Given the description of an element on the screen output the (x, y) to click on. 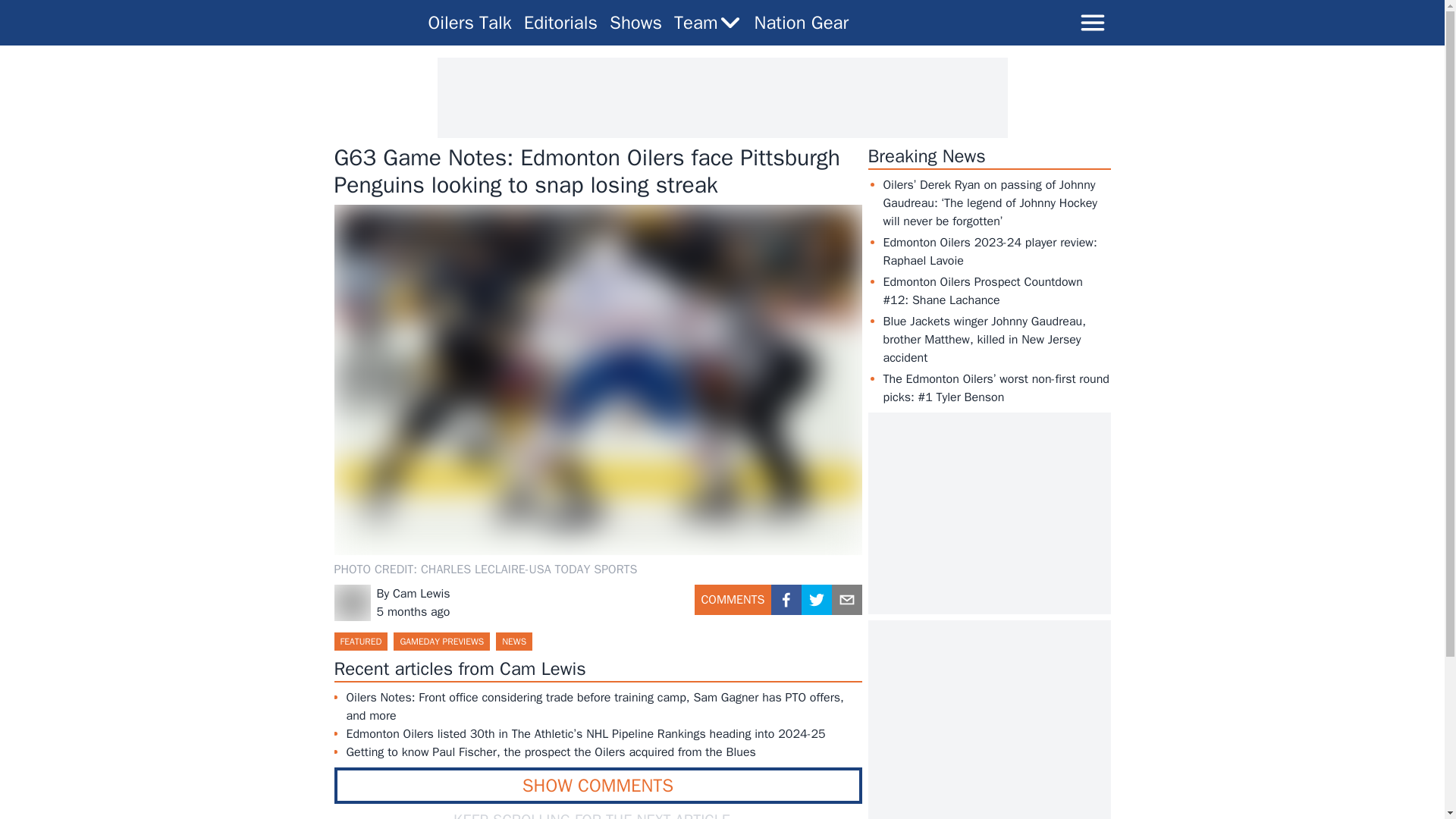
GAMEDAY PREVIEWS (441, 641)
SHOW COMMENTS (597, 785)
Shows (636, 22)
FEATURED (360, 641)
SHOW COMMENTS (597, 785)
Nation Gear (801, 22)
NEWS (514, 641)
Edmonton Oilers 2023-24 player review: Raphael Lavoie (989, 251)
Editorials (560, 22)
